Given the description of an element on the screen output the (x, y) to click on. 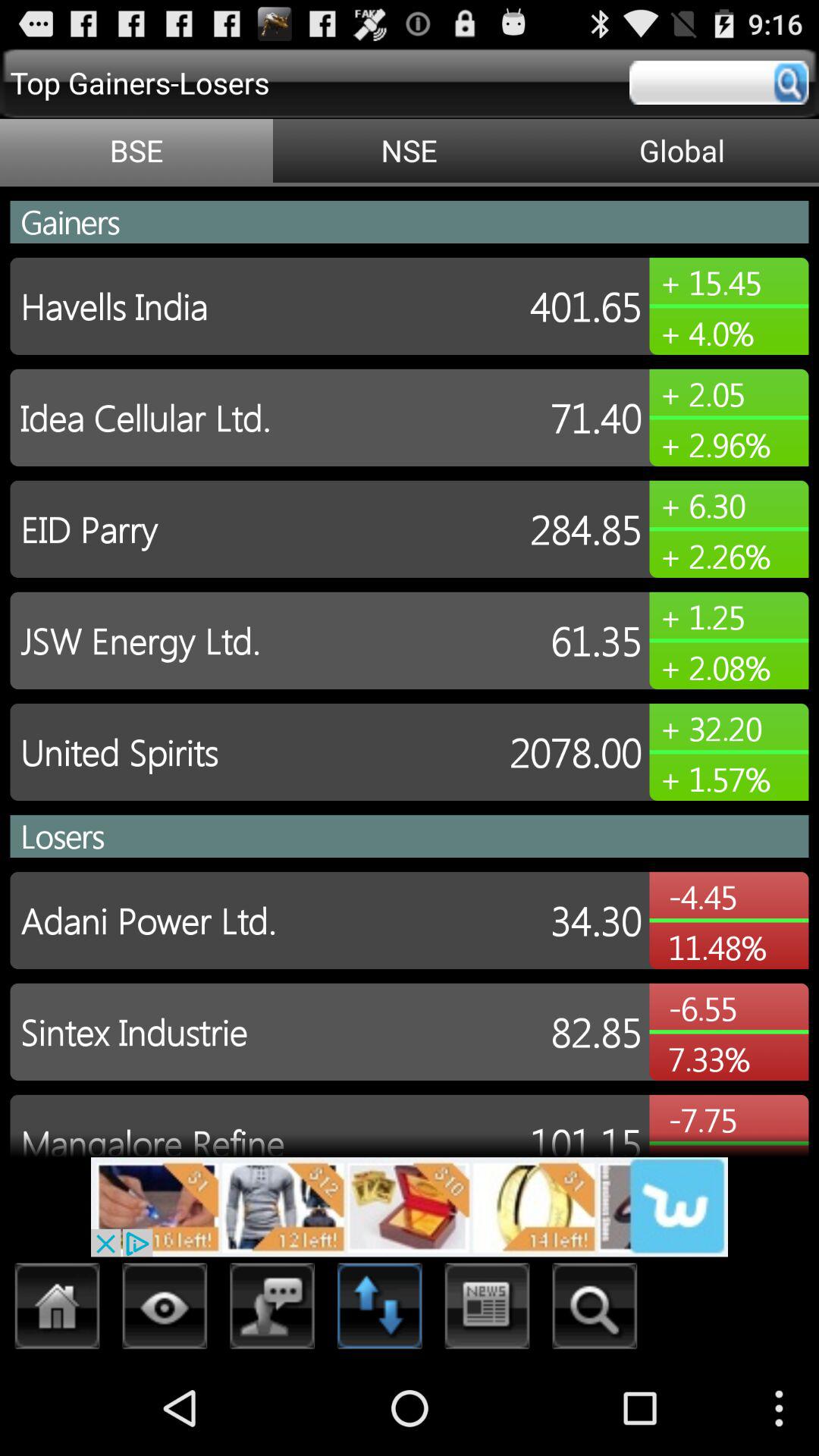
go to search (718, 82)
